Given the description of an element on the screen output the (x, y) to click on. 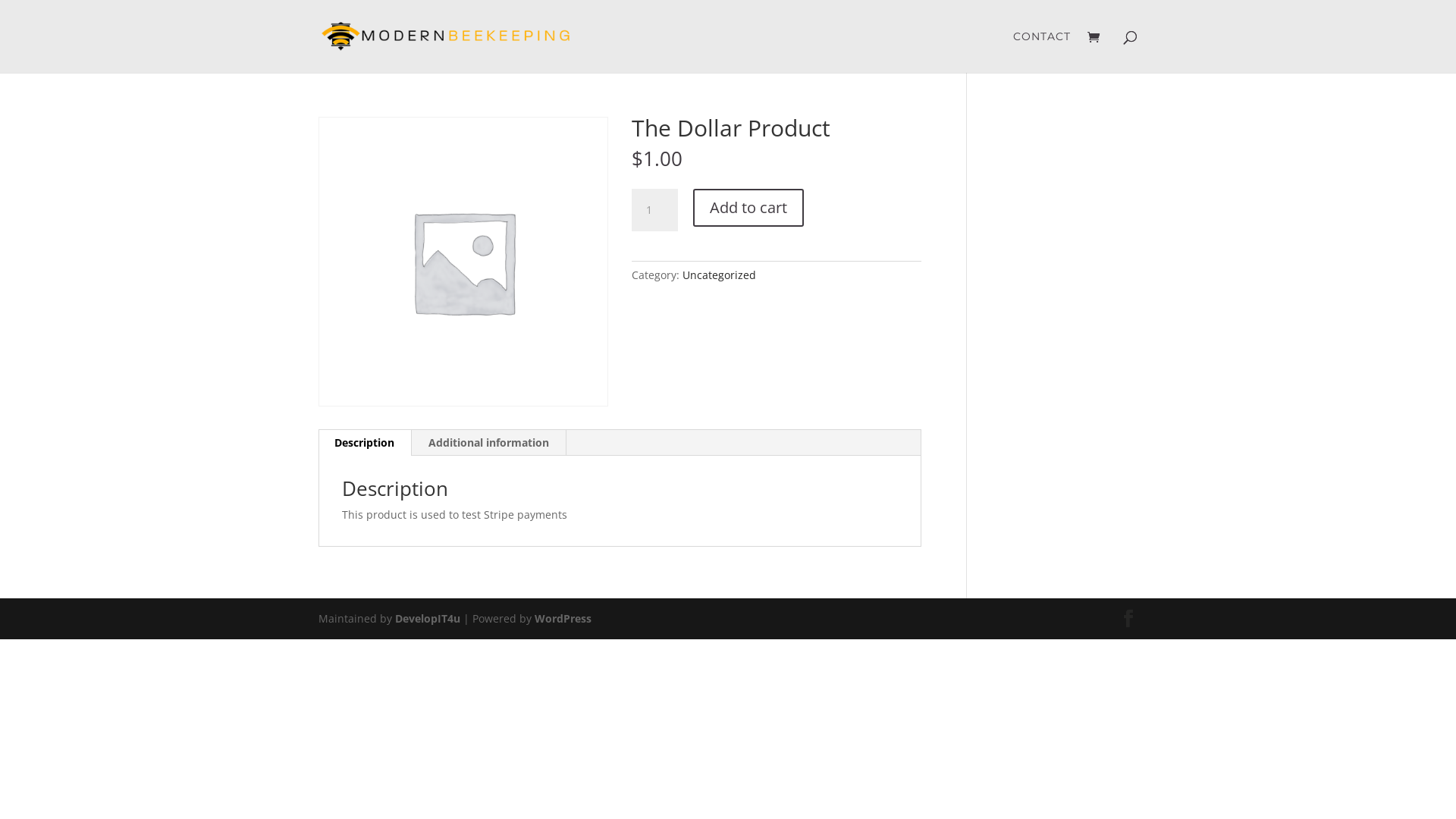
DevelopIT4u Element type: text (427, 618)
Add to cart Element type: text (748, 207)
Uncategorized Element type: text (719, 274)
Description Element type: text (364, 442)
CONTACT Element type: text (1041, 51)
WordPress Element type: text (562, 618)
Additional information Element type: text (488, 442)
